Given the description of an element on the screen output the (x, y) to click on. 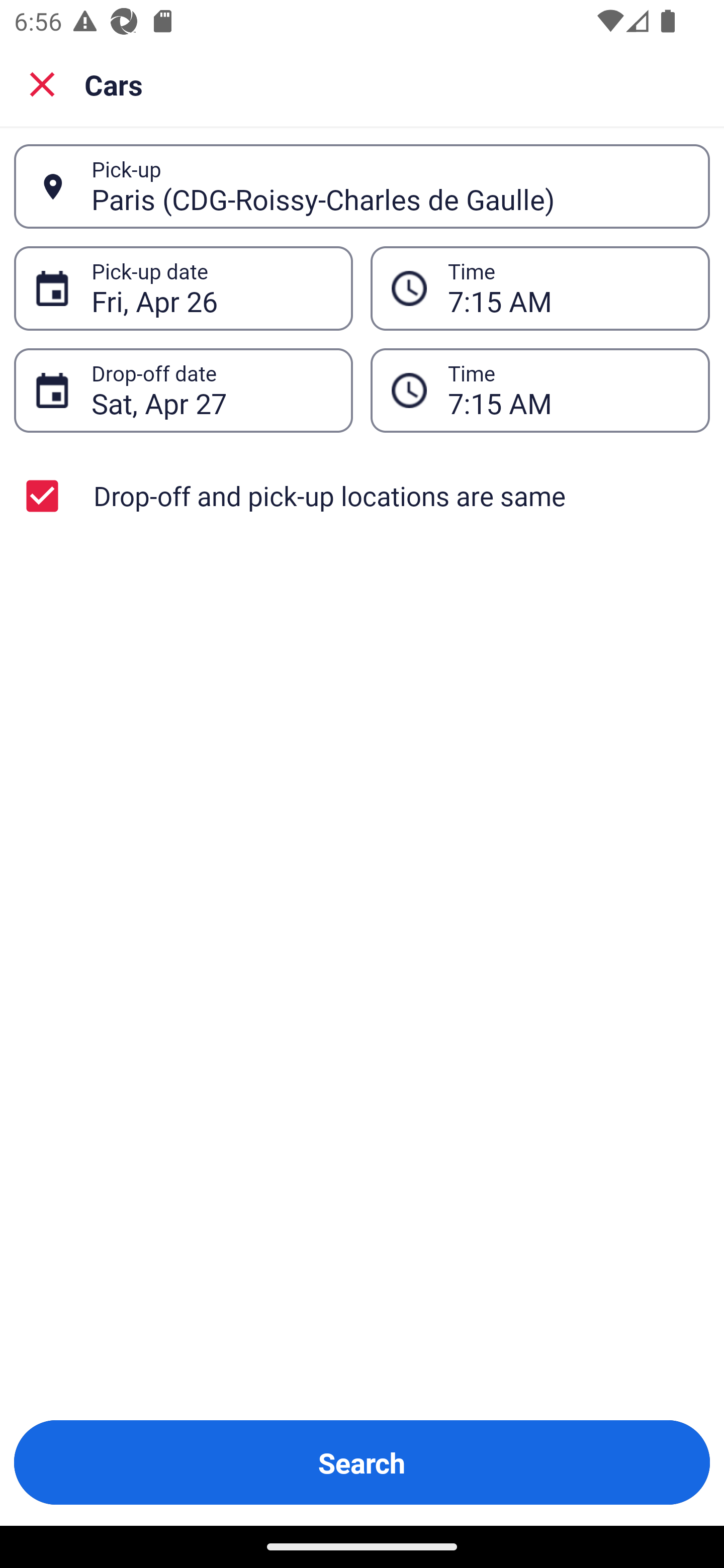
Close search screen (41, 83)
Paris (CDG-Roissy-Charles de Gaulle) Pick-up (361, 186)
Paris (CDG-Roissy-Charles de Gaulle) (389, 186)
Fri, Apr 26 Pick-up date (183, 288)
7:15 AM (540, 288)
Fri, Apr 26 (211, 288)
7:15 AM (568, 288)
Sat, Apr 27 Drop-off date (183, 390)
7:15 AM (540, 390)
Sat, Apr 27 (211, 390)
7:15 AM (568, 390)
Drop-off and pick-up locations are same (361, 495)
Search Button Search (361, 1462)
